Given the description of an element on the screen output the (x, y) to click on. 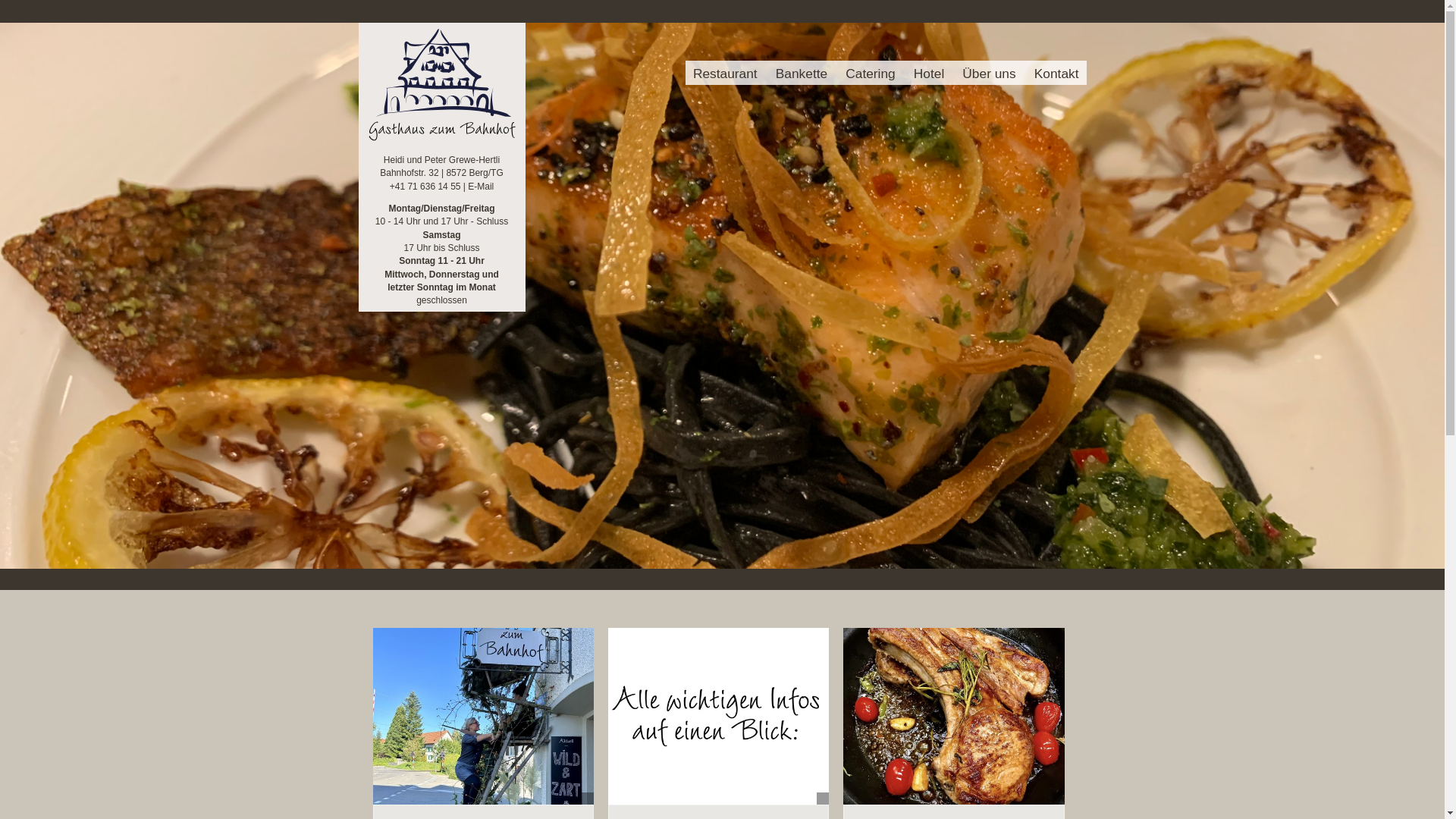
  Element type: text (692, 84)
Kontakt Element type: text (1056, 72)
Hotel Element type: text (928, 72)
Catering Element type: text (870, 72)
Bahnhof Element type: hover (441, 137)
Bankette Element type: text (801, 72)
Restaurant Element type: text (725, 72)
E-Mail Element type: text (480, 186)
